Given the description of an element on the screen output the (x, y) to click on. 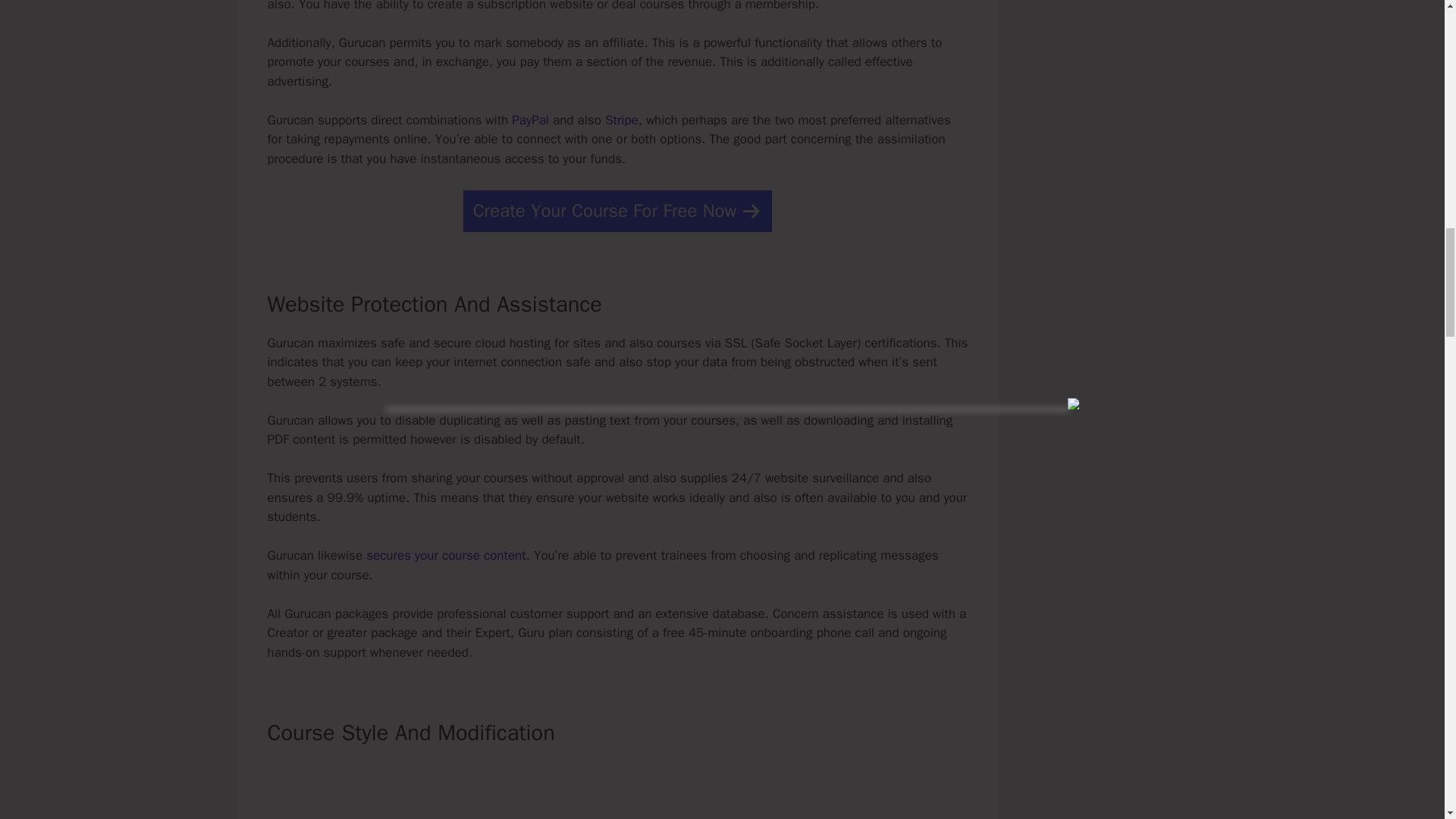
secures your course content (445, 555)
Create Your Course For Free Now (617, 210)
PayPal (530, 119)
Stripe (622, 119)
